Given the description of an element on the screen output the (x, y) to click on. 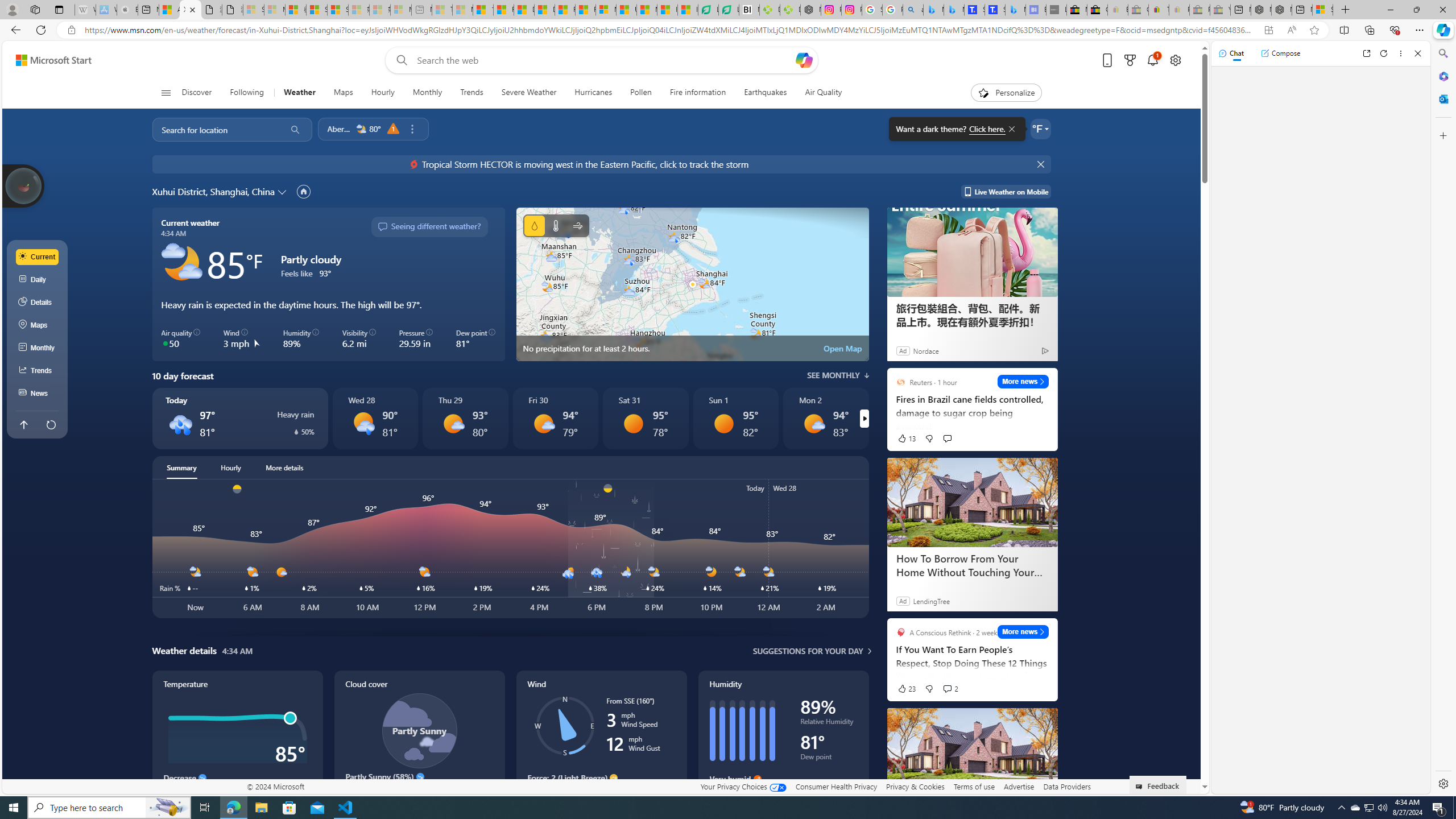
Data Providers (1066, 786)
Visibility 6.2 mi (358, 338)
Chat (1231, 52)
Hourly (382, 92)
Suggestions for your day (807, 650)
Wind (601, 741)
Microsoft Bing Travel - Flights from Hong Kong to Bangkok (933, 9)
Maps (343, 92)
Sunny (723, 422)
Press Room - eBay Inc. - Sleeping (1199, 9)
Decrease (202, 777)
Nvidia va a poner a prueba la paciencia de los inversores (748, 9)
